Given the description of an element on the screen output the (x, y) to click on. 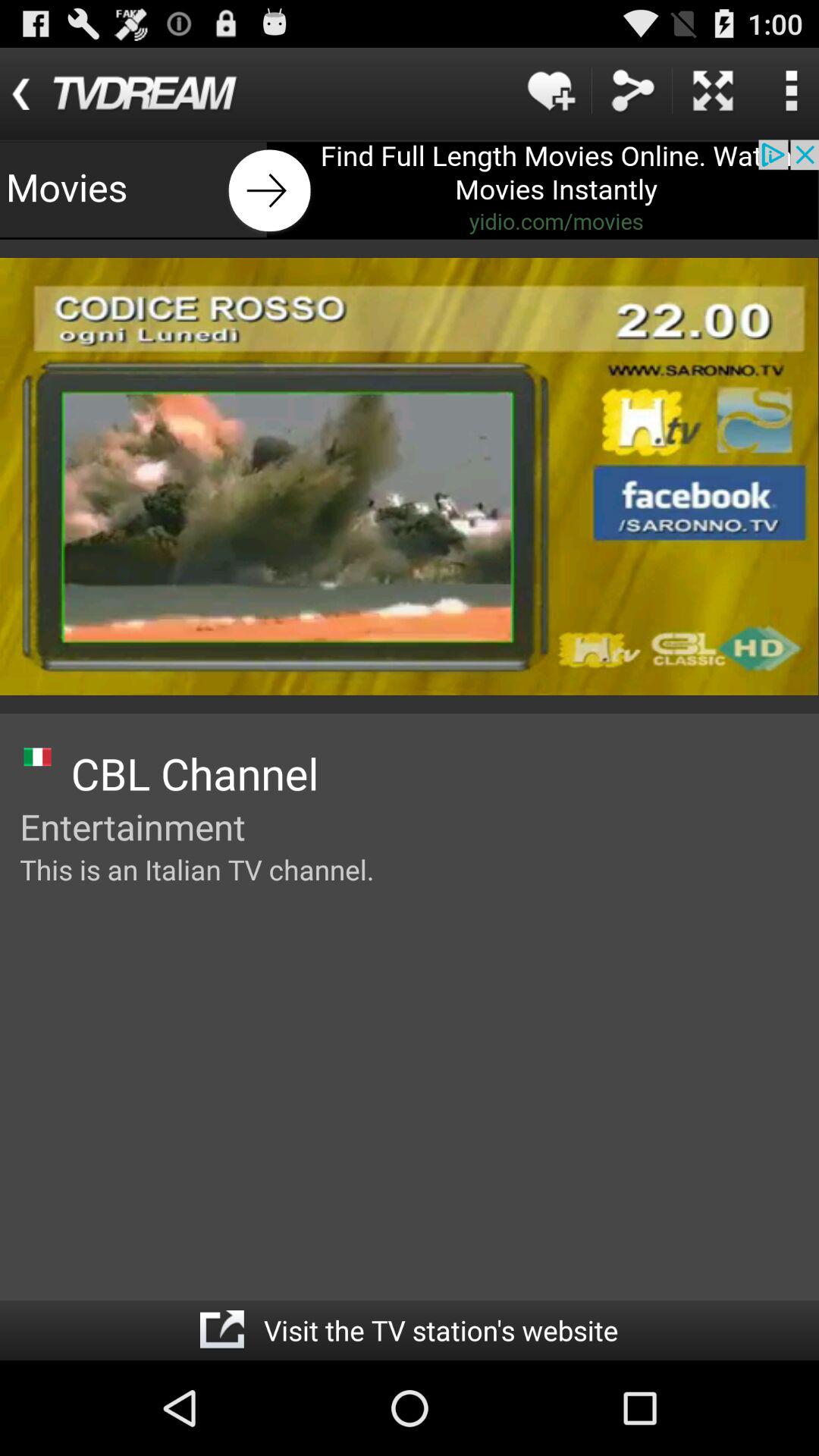
show the menu (791, 90)
